Given the description of an element on the screen output the (x, y) to click on. 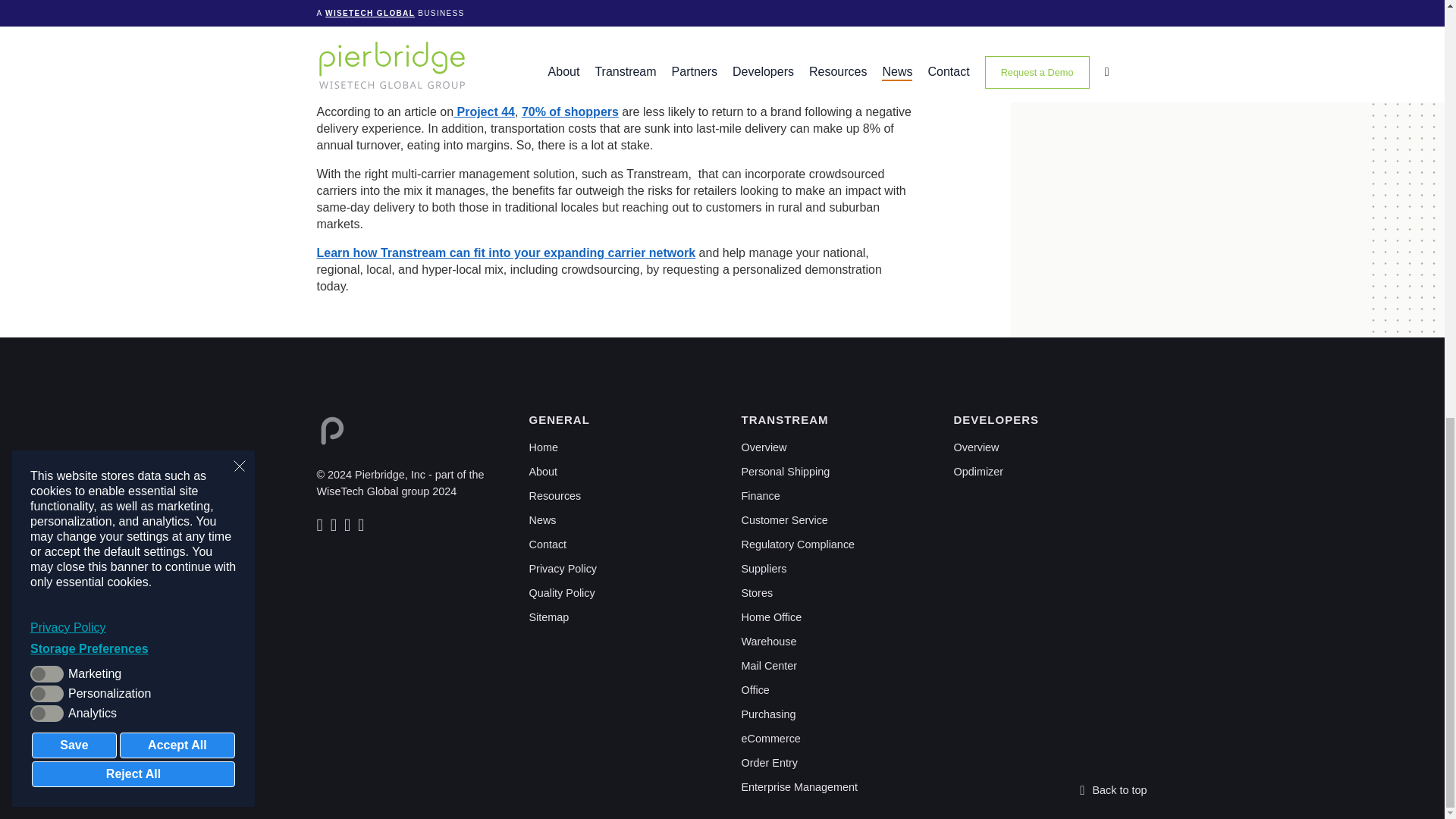
Facebook (335, 526)
About (543, 471)
customer delivery experience (587, 57)
Home (543, 447)
About (543, 471)
Request a Demo (506, 252)
YouTube (363, 526)
Resources (554, 495)
LinkedIn (322, 526)
Pierbridge (332, 430)
News (542, 520)
